Given the description of an element on the screen output the (x, y) to click on. 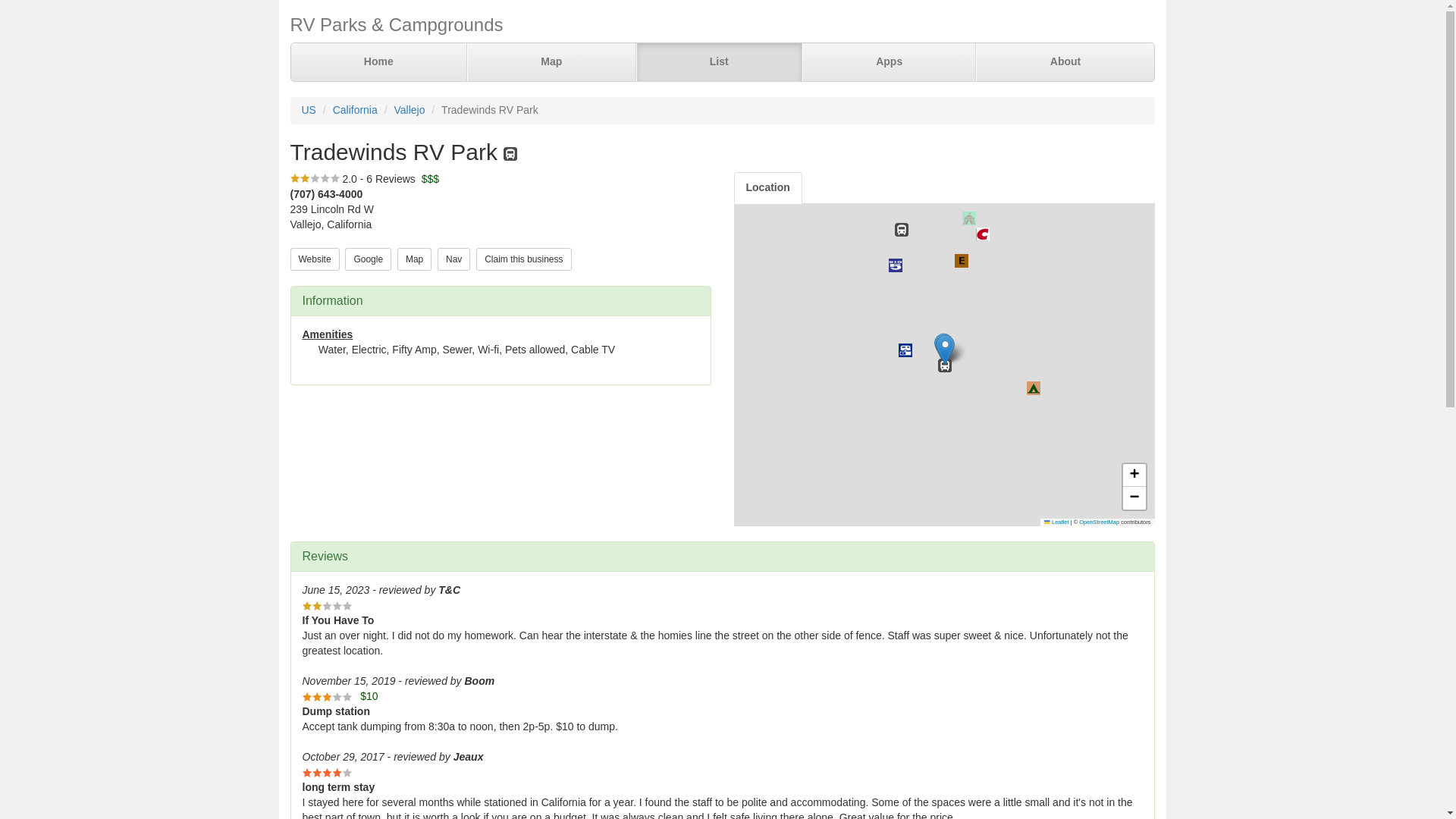
US (308, 110)
Solano County Fairgrounds (967, 218)
Website (314, 259)
Location (767, 187)
Lodge 559 Campground (960, 260)
Leaflet (1055, 521)
Home (379, 62)
Google (368, 259)
OpenStreetMap (1098, 521)
A JavaScript library for interactive maps (1055, 521)
Website (314, 258)
About (1064, 62)
Vallejo Sanitation and Flood Control District (904, 350)
Map (413, 259)
Big5 (895, 264)
